Given the description of an element on the screen output the (x, y) to click on. 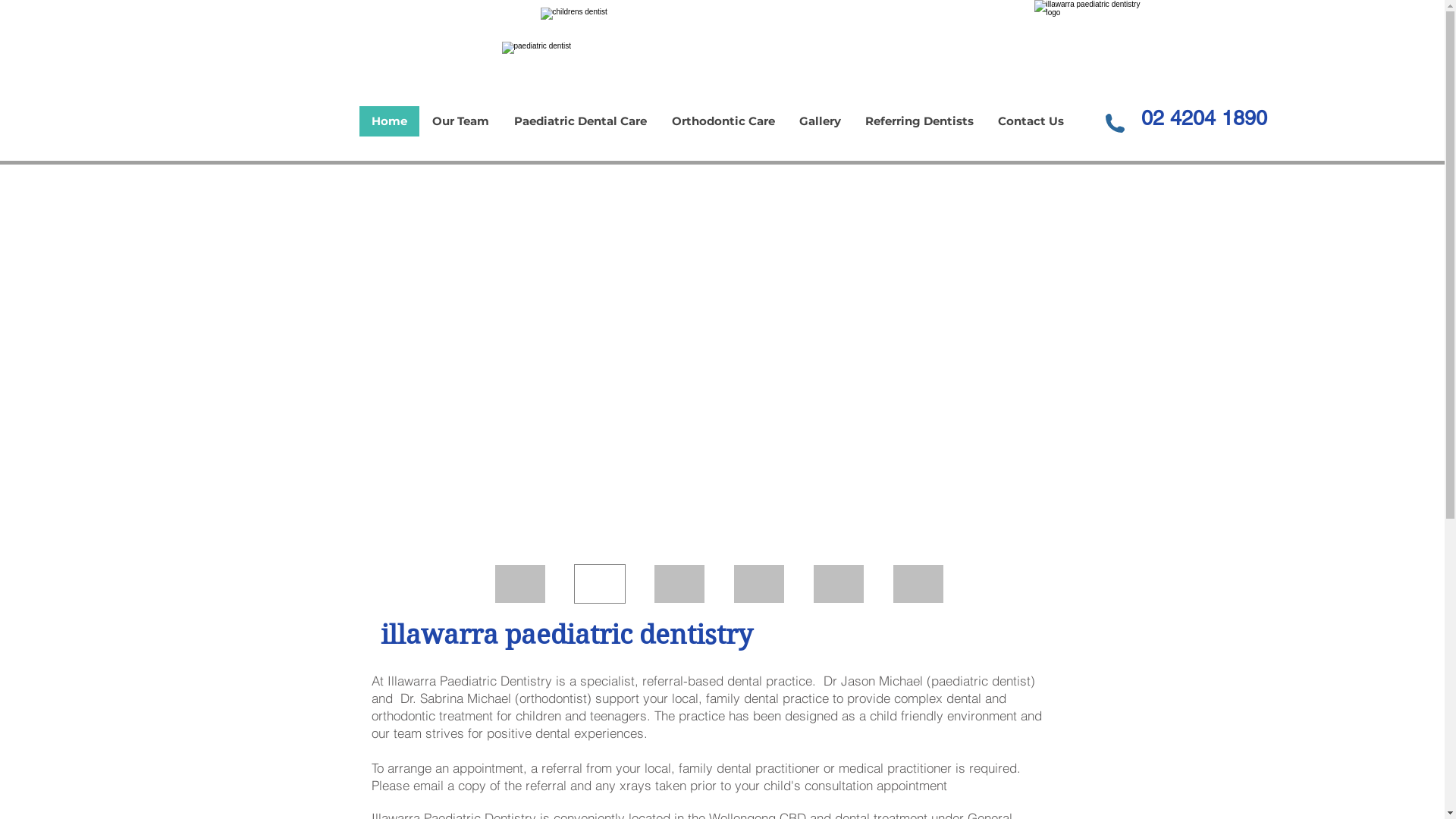
Paediatric Dental Care Element type: text (579, 121)
Contact Us Element type: text (1030, 121)
Gallery Element type: text (820, 121)
Orthodontic Care Element type: text (722, 121)
Referring Dentists Element type: text (918, 121)
Our Team Element type: text (459, 121)
Home Element type: text (389, 121)
